Given the description of an element on the screen output the (x, y) to click on. 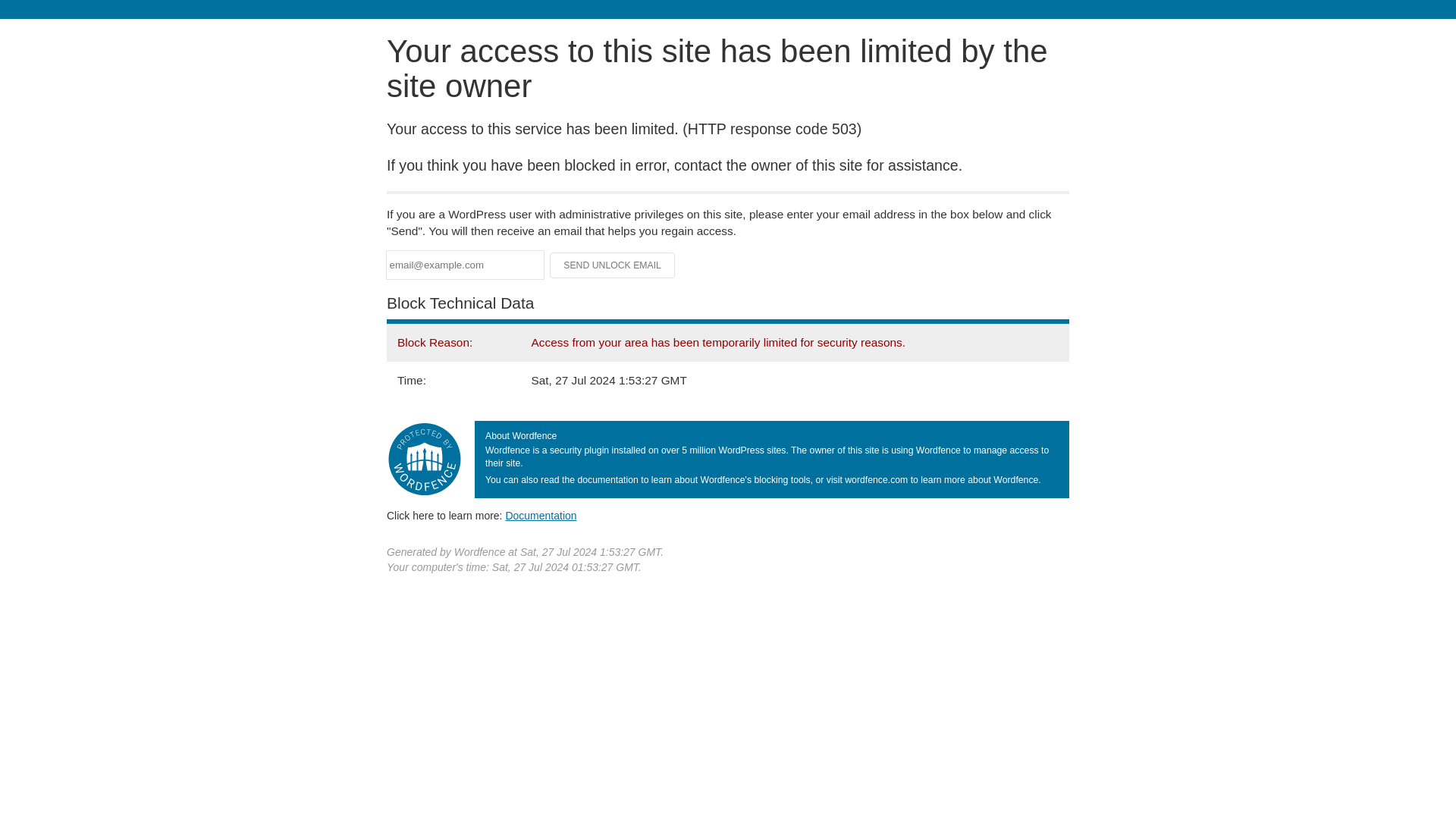
Send Unlock Email (612, 265)
Documentation (540, 515)
Send Unlock Email (612, 265)
